Given the description of an element on the screen output the (x, y) to click on. 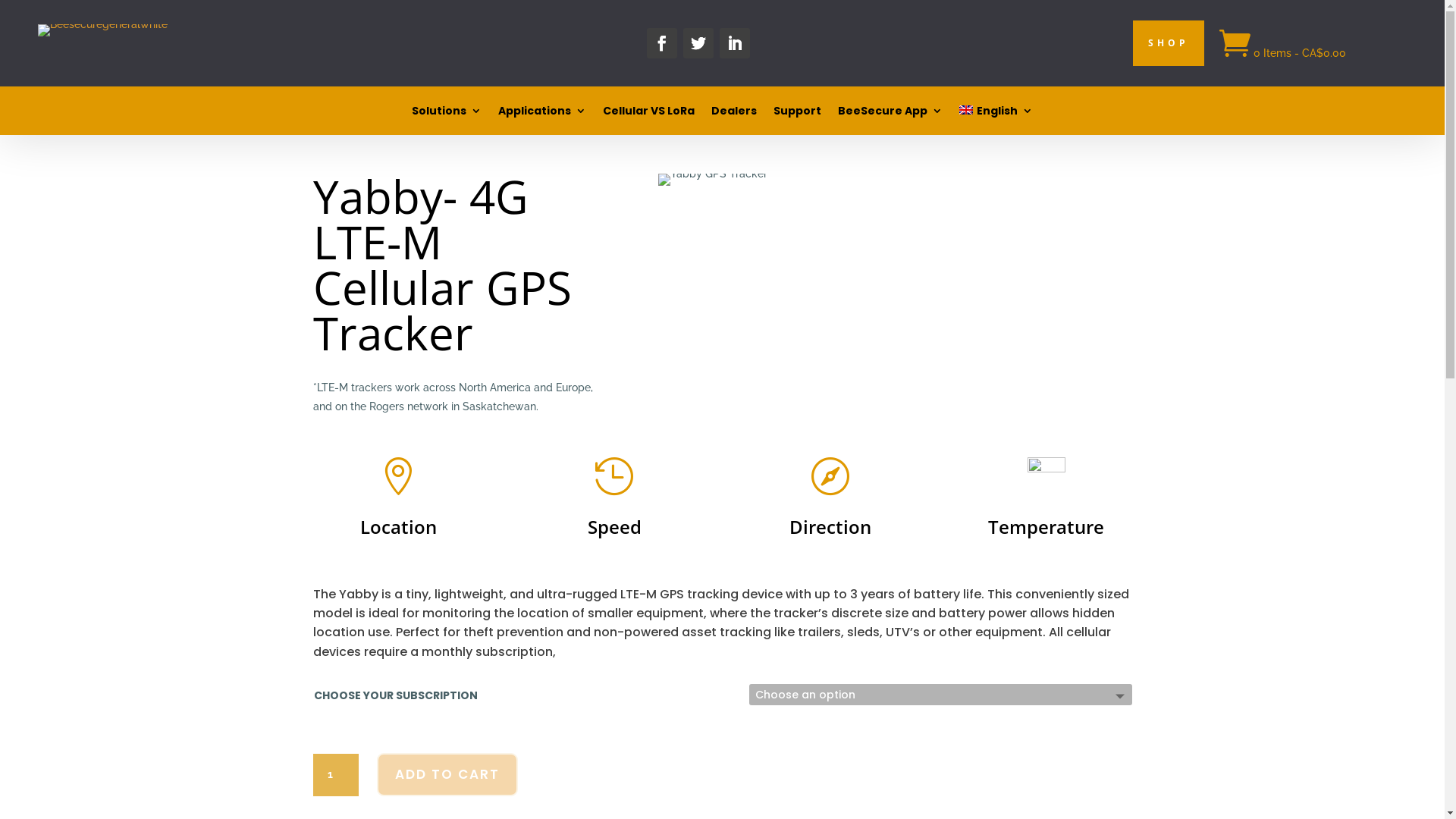
Cellular VS LoRa Element type: text (648, 113)
English Element type: text (995, 113)
Solutions Element type: text (446, 113)
BeeSecureGeneralWhite Element type: hover (102, 30)
Dealers Element type: text (733, 113)
ADD TO CART Element type: text (446, 774)
Follow on Twitter Element type: hover (697, 43)
Follow on LinkedIn Element type: hover (733, 43)
Qty Element type: hover (334, 774)
Follow on Facebook Element type: hover (661, 43)
Support Element type: text (797, 113)
Applications Element type: text (542, 113)
SHOP Element type: text (1168, 42)
BeeSecure App Element type: text (889, 113)
